Given the description of an element on the screen output the (x, y) to click on. 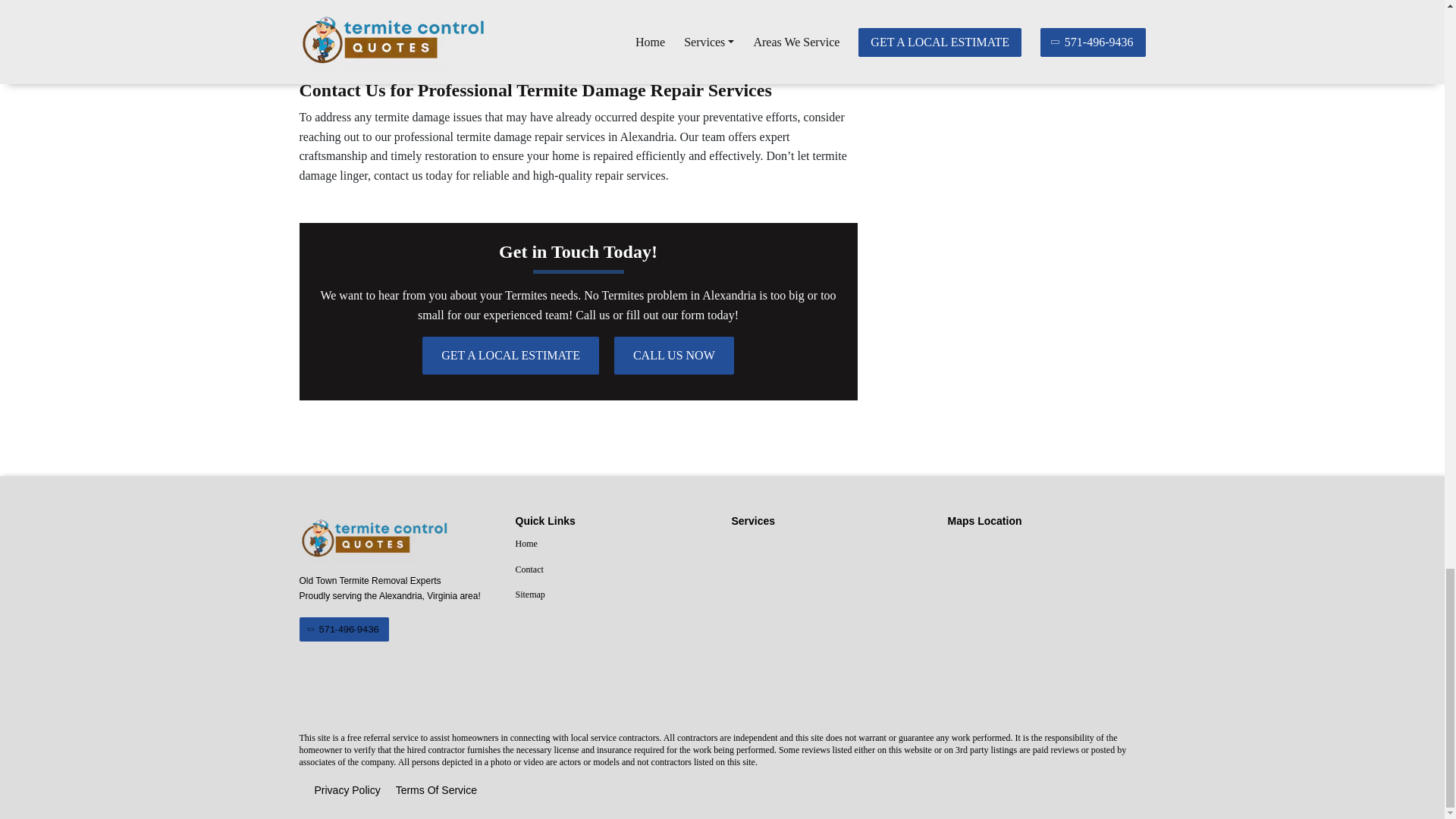
Sitemap (614, 595)
571-496-9436 (343, 629)
Contact (614, 569)
CALL US NOW (673, 355)
Terms Of Service (436, 790)
Privacy Policy (347, 790)
Home (614, 544)
GET A LOCAL ESTIMATE (510, 355)
